Given the description of an element on the screen output the (x, y) to click on. 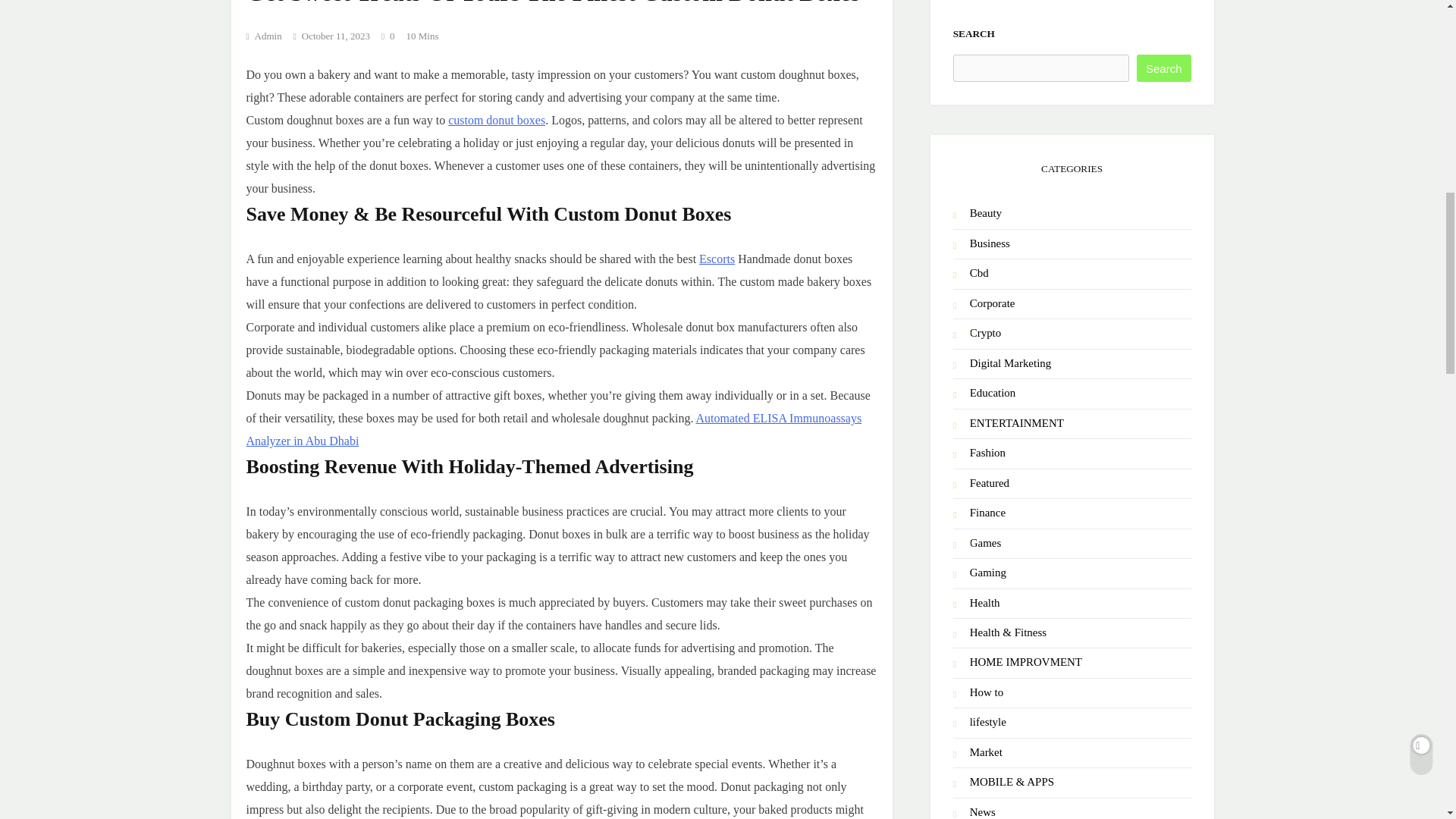
custom donut boxes (496, 119)
Automated ELISA Immunoassays Analyzer in Abu Dhabi (553, 429)
October 11, 2023 (335, 35)
Admin (263, 36)
Escorts (716, 258)
